Given the description of an element on the screen output the (x, y) to click on. 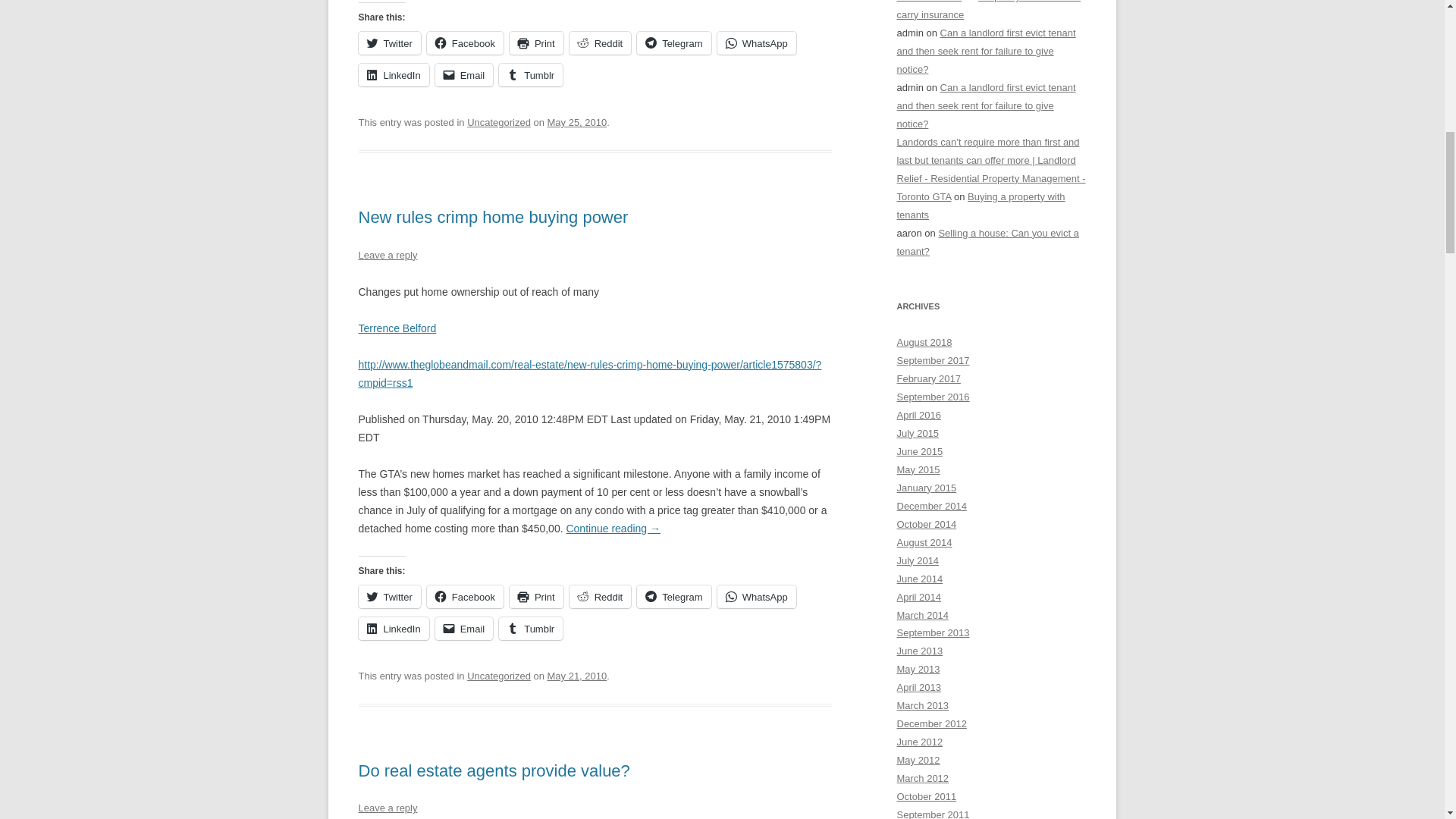
Click to share on Facebook (464, 596)
Twitter (389, 42)
Click to email a link to a friend (464, 74)
Click to share on WhatsApp (756, 42)
Click to share on Facebook (464, 42)
More from Terrence Belford (396, 328)
Click to share on Telegram (673, 42)
5:33 pm (577, 122)
Click to print (536, 42)
Click to share on Tumblr (530, 74)
Click to share on Twitter (389, 596)
Click to share on LinkedIn (393, 74)
Click to share on Twitter (389, 42)
Click to share on Reddit (600, 42)
